Given the description of an element on the screen output the (x, y) to click on. 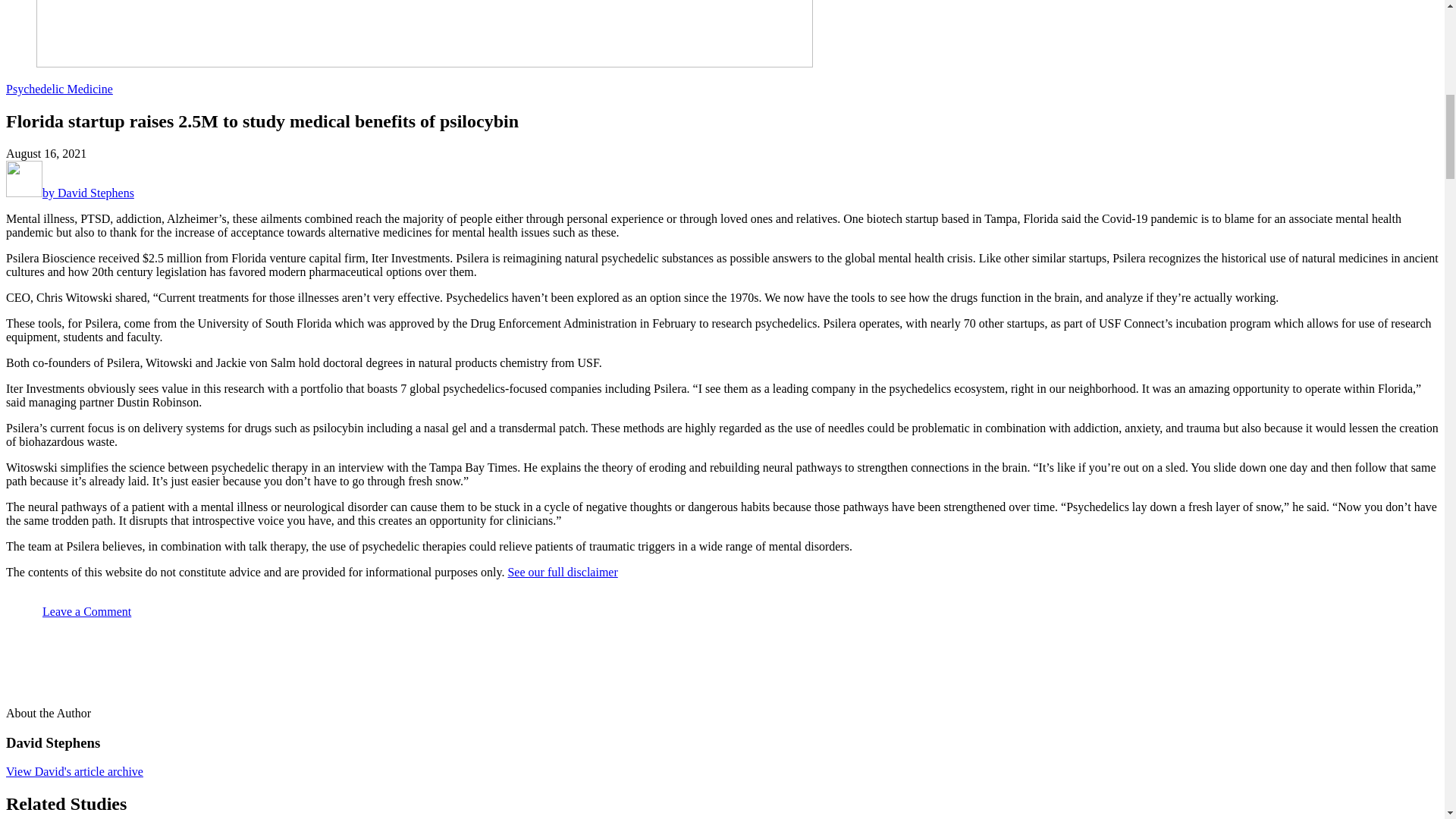
See our full disclaimer (561, 571)
View David's article archive (73, 771)
by David Stephens (69, 192)
Leave a Comment (68, 611)
Psychedelic Medicine (59, 88)
